Given the description of an element on the screen output the (x, y) to click on. 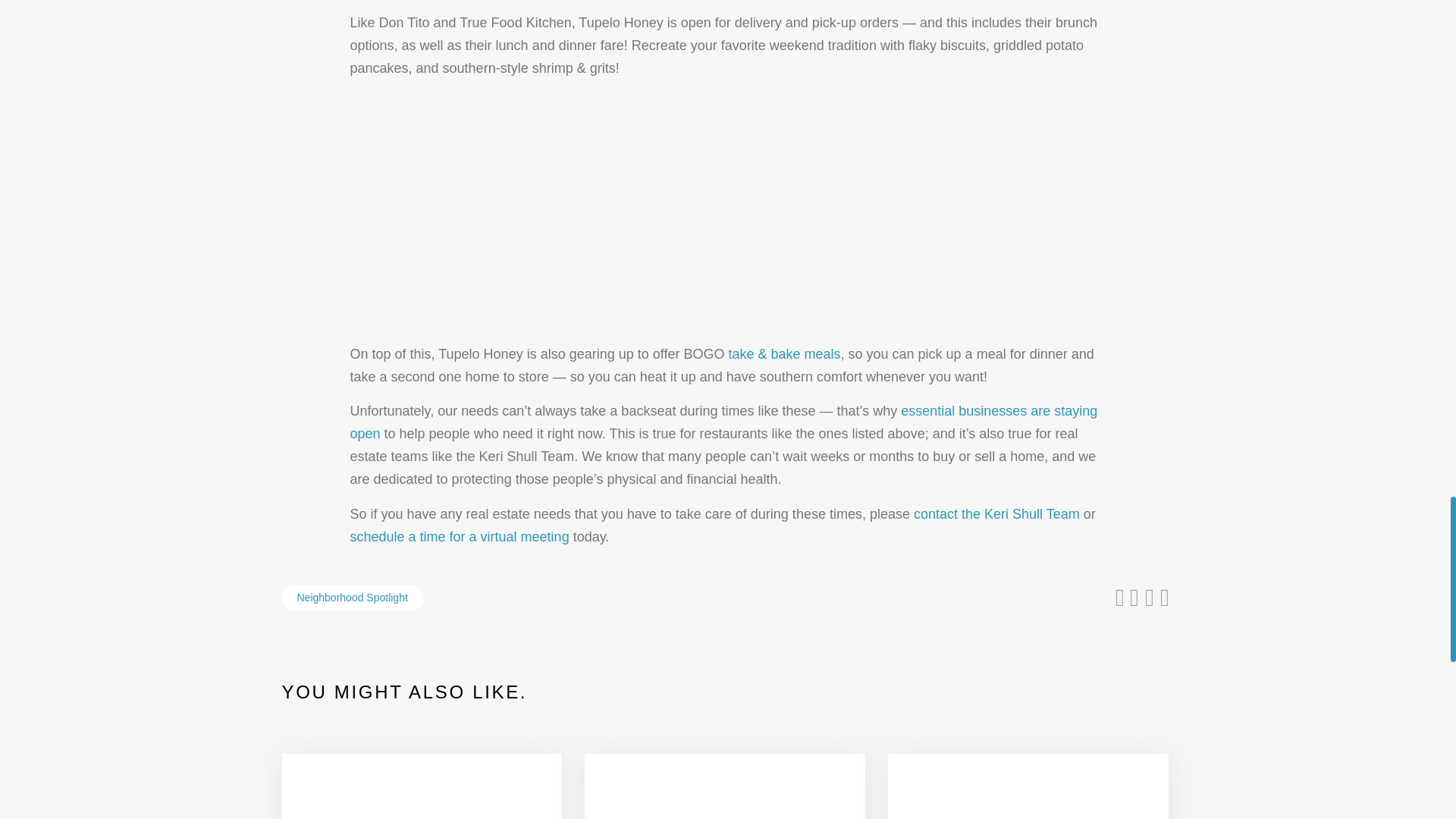
schedule a time for a virtual meeting (459, 536)
contact the Keri Shull Team (997, 513)
Neighborhood Spotlight (352, 597)
essential businesses are staying open (723, 422)
